Given the description of an element on the screen output the (x, y) to click on. 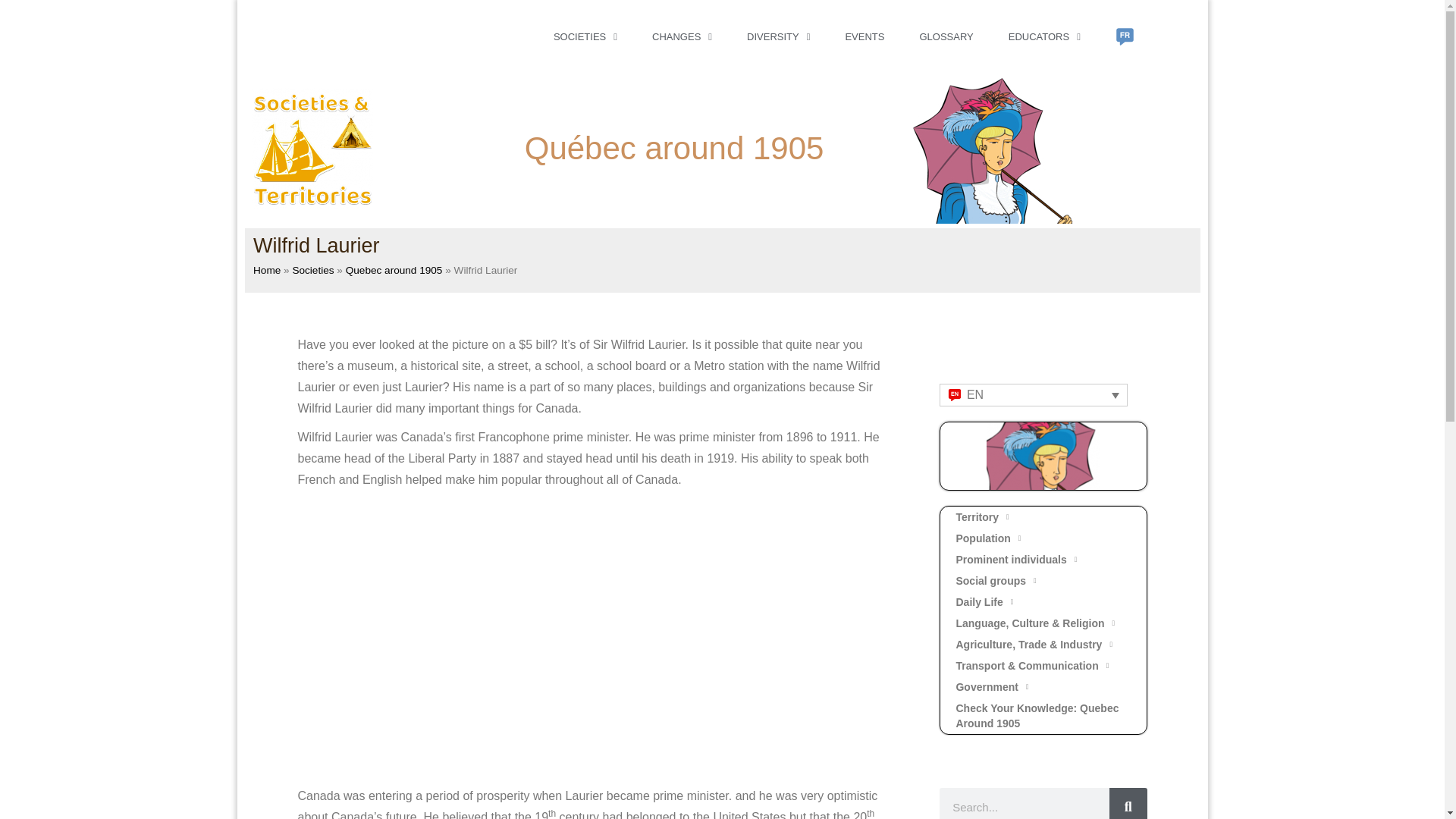
EVENTS (864, 36)
DIVERSITY (778, 36)
SOCIETIES (584, 36)
CHANGES (681, 36)
cropped-Societies-logo-new-2024-clipart-style.png (311, 148)
